Given the description of an element on the screen output the (x, y) to click on. 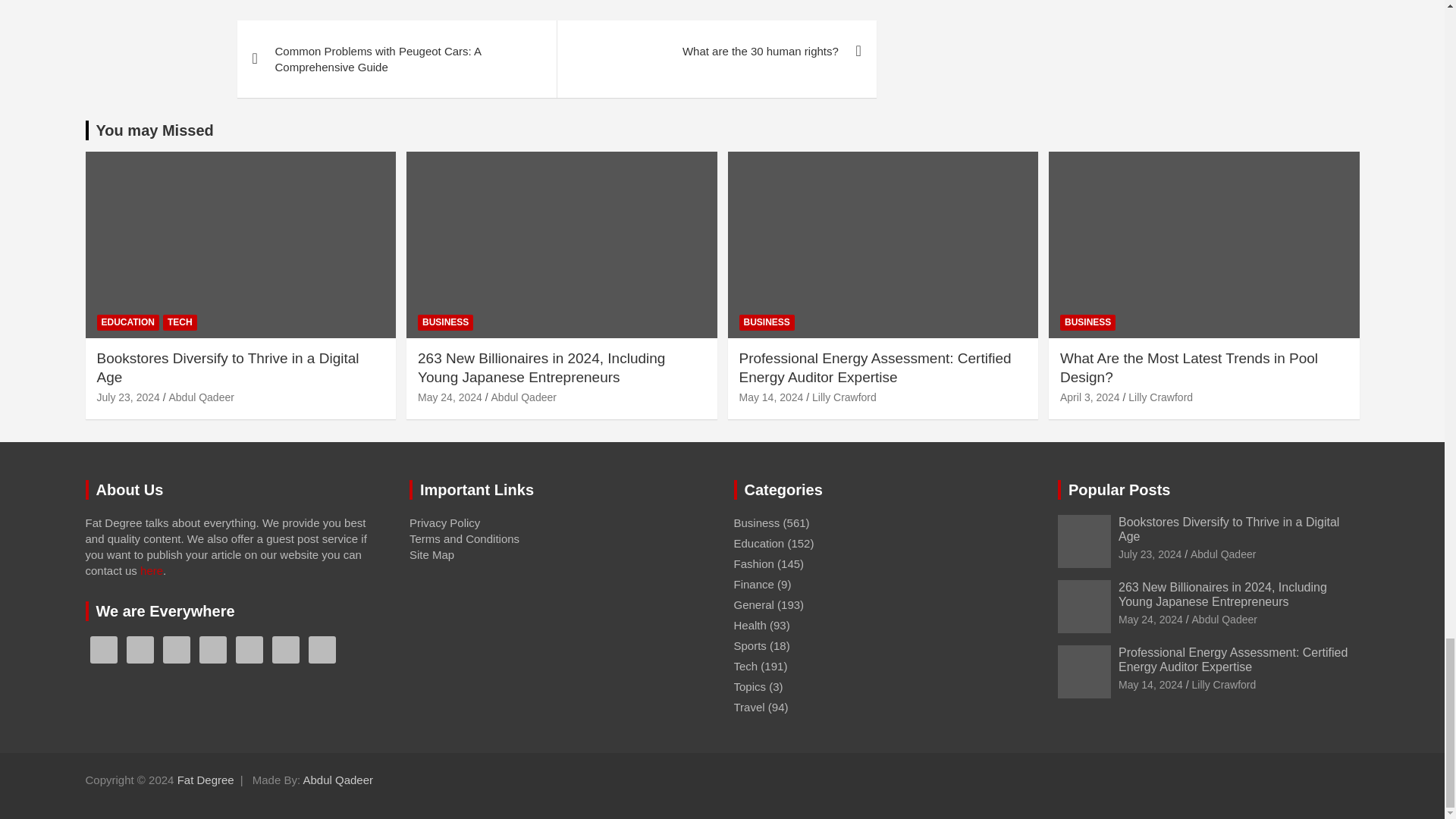
What are the 30 human rights? (716, 50)
Bookstores Diversify to Thrive in a Digital Age (128, 397)
Common Problems with Peugeot Cars: A Comprehensive Guide (395, 58)
